Given the description of an element on the screen output the (x, y) to click on. 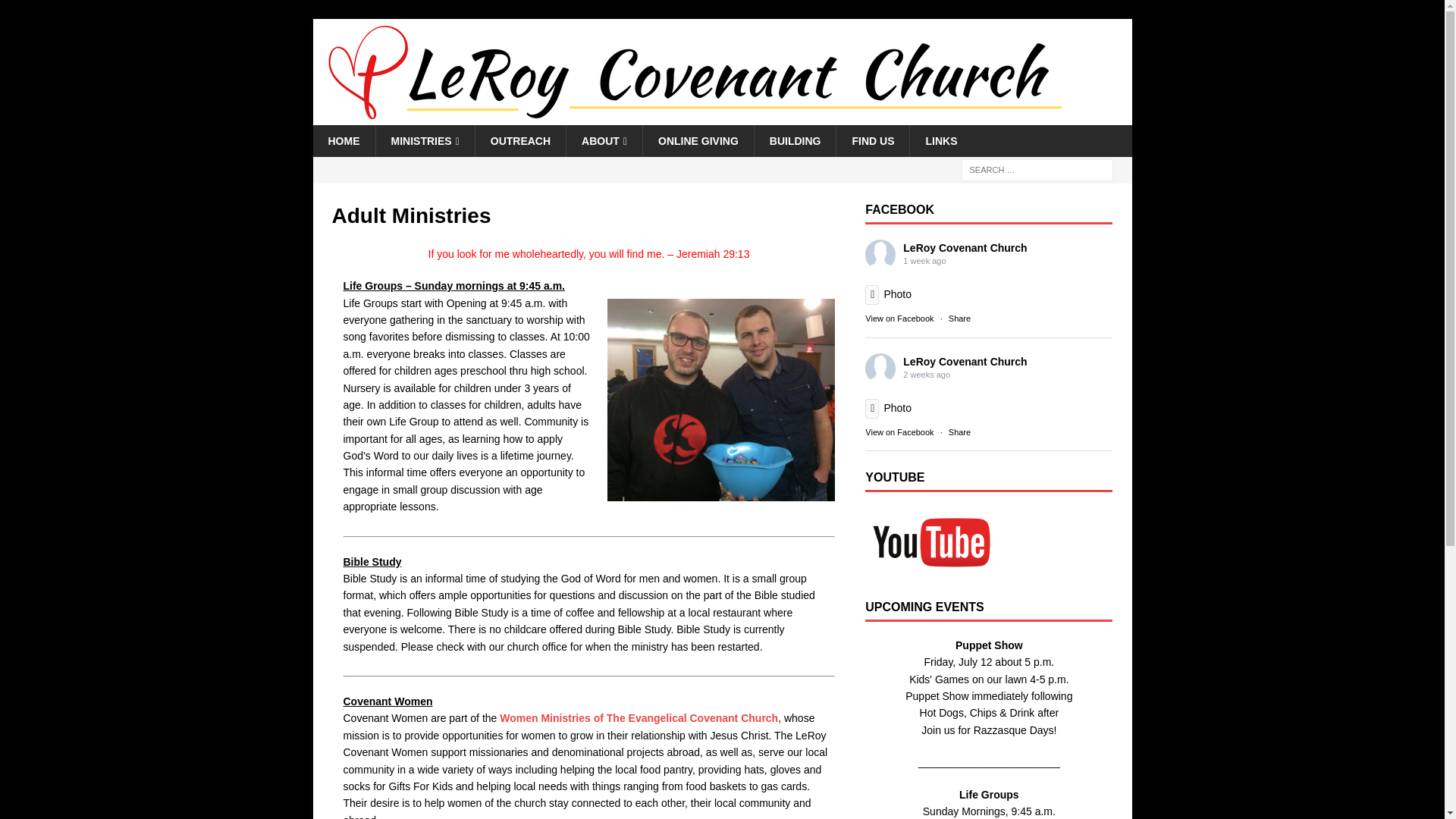
OUTREACH (520, 141)
LeRoy Covenant Church (691, 116)
LeRoy Covenant Church (964, 361)
Women Ministries of The Evangelical Covenant Church, (639, 717)
HOME (343, 141)
FIND US (871, 141)
MINISTRIES (424, 141)
Search (56, 11)
View on Facebook (898, 317)
Ministries (424, 141)
LeRoy Covenant Church (964, 247)
LeRoy Covenant Home (343, 141)
BUILDING (794, 141)
Share (960, 317)
ABOUT (604, 141)
